Given the description of an element on the screen output the (x, y) to click on. 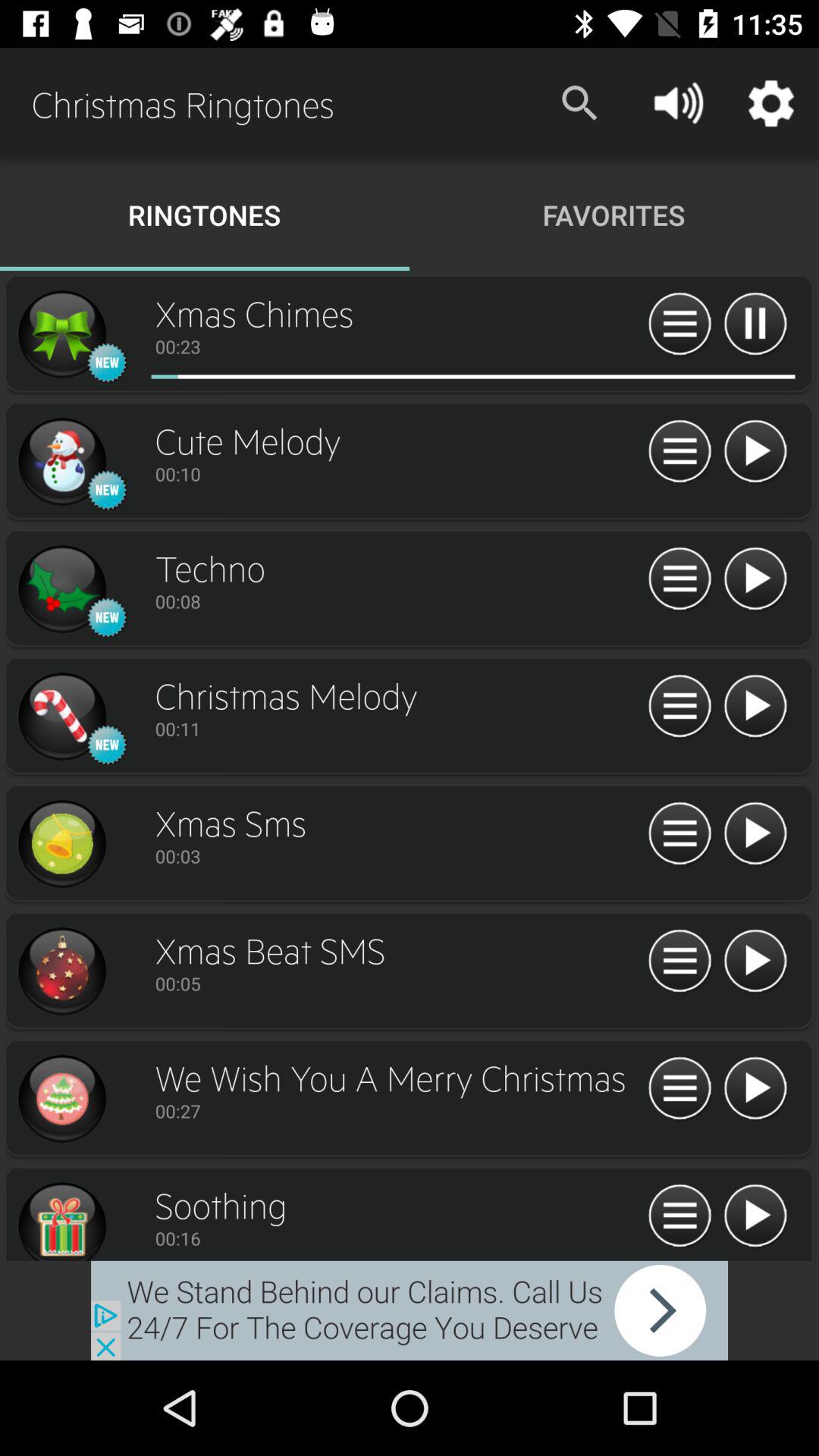
pause button (755, 324)
